Given the description of an element on the screen output the (x, y) to click on. 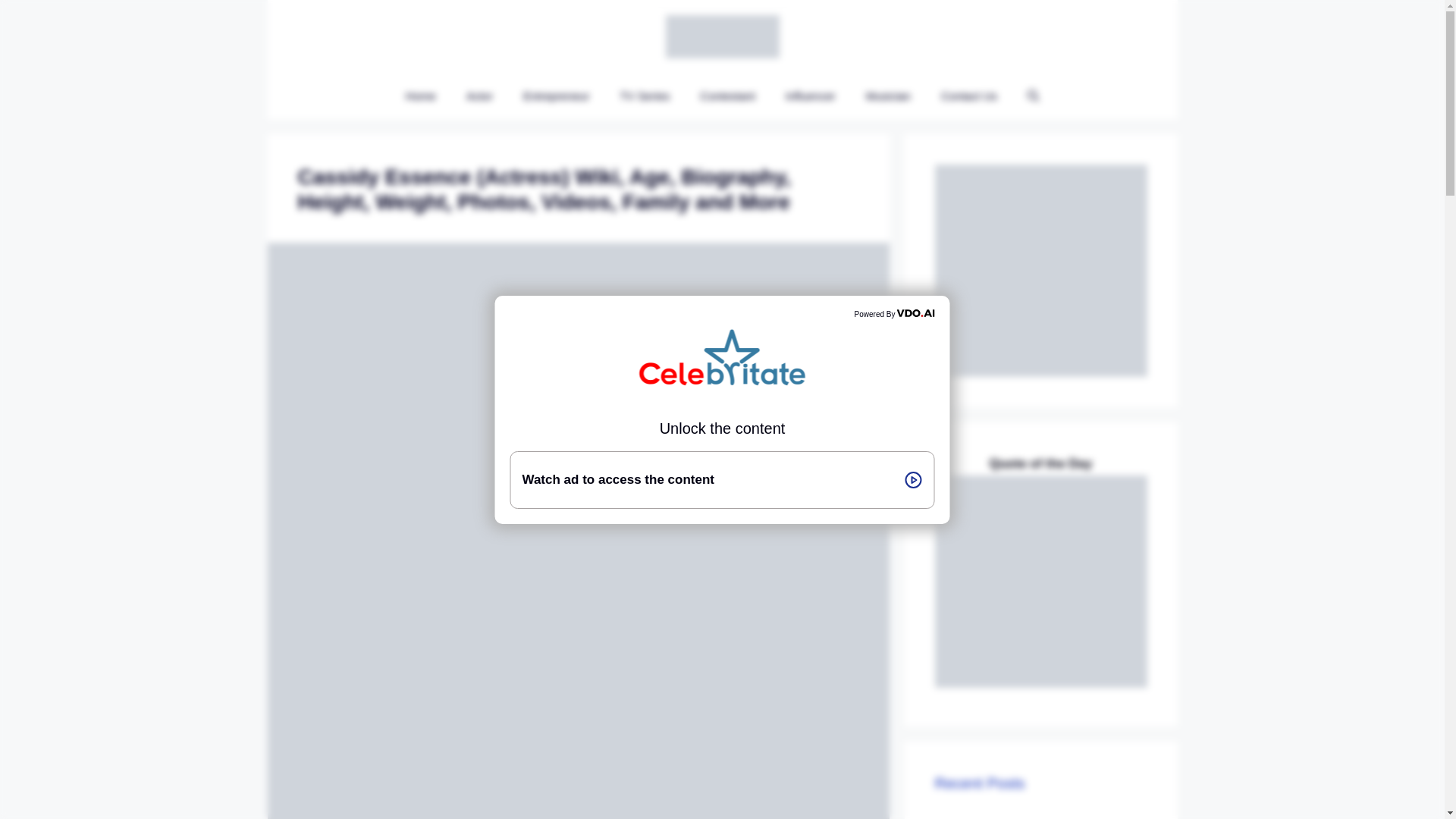
Actor (479, 95)
TV Series (644, 95)
Influencer (810, 95)
Musician (888, 95)
Contact Us (968, 95)
Entrepreneur (556, 95)
Contestant (727, 95)
Home (420, 95)
